Given the description of an element on the screen output the (x, y) to click on. 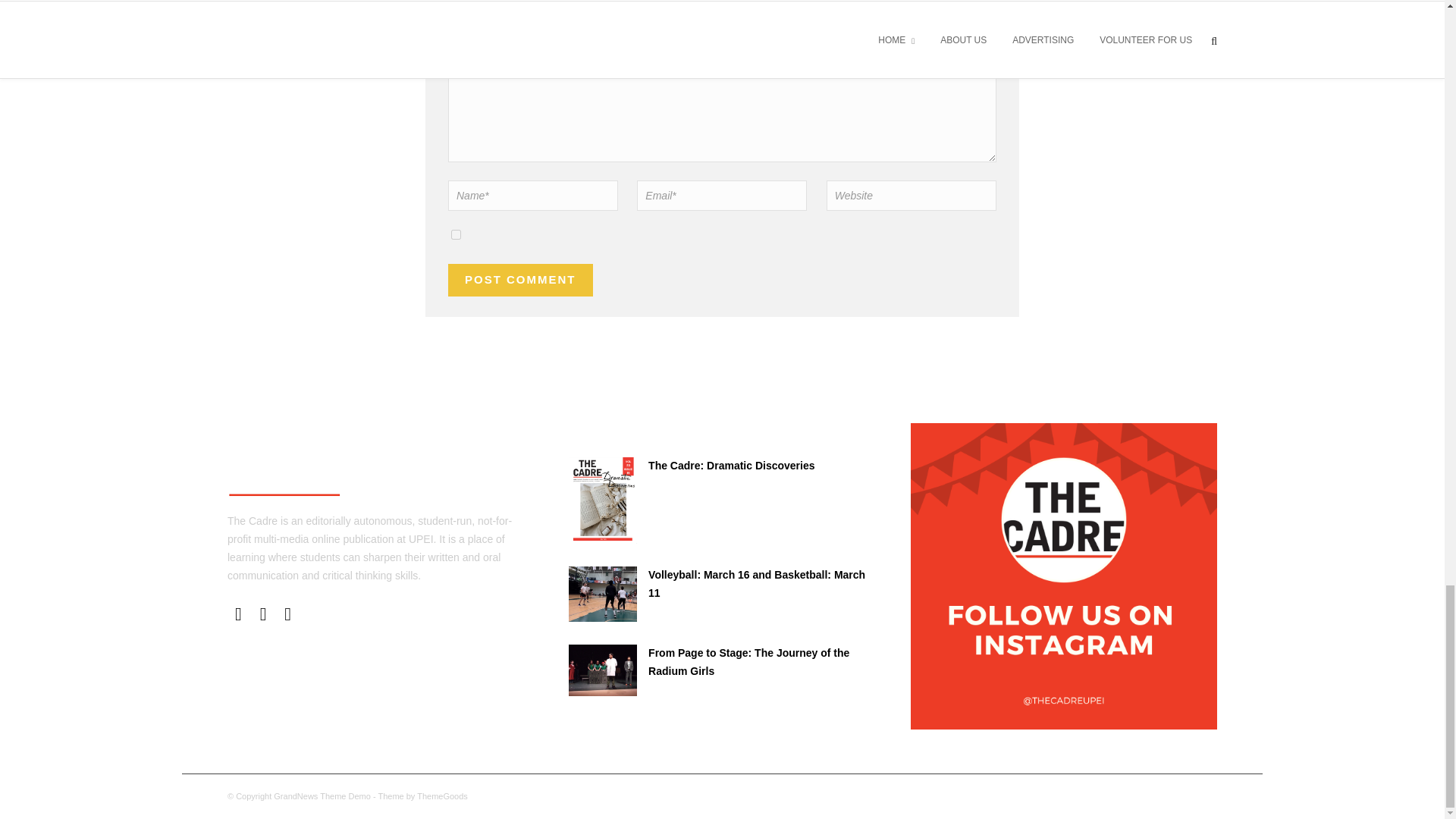
yes (456, 234)
Post Comment (520, 279)
Twitter (263, 613)
Post Comment (520, 279)
Facebook (237, 613)
